Given the description of an element on the screen output the (x, y) to click on. 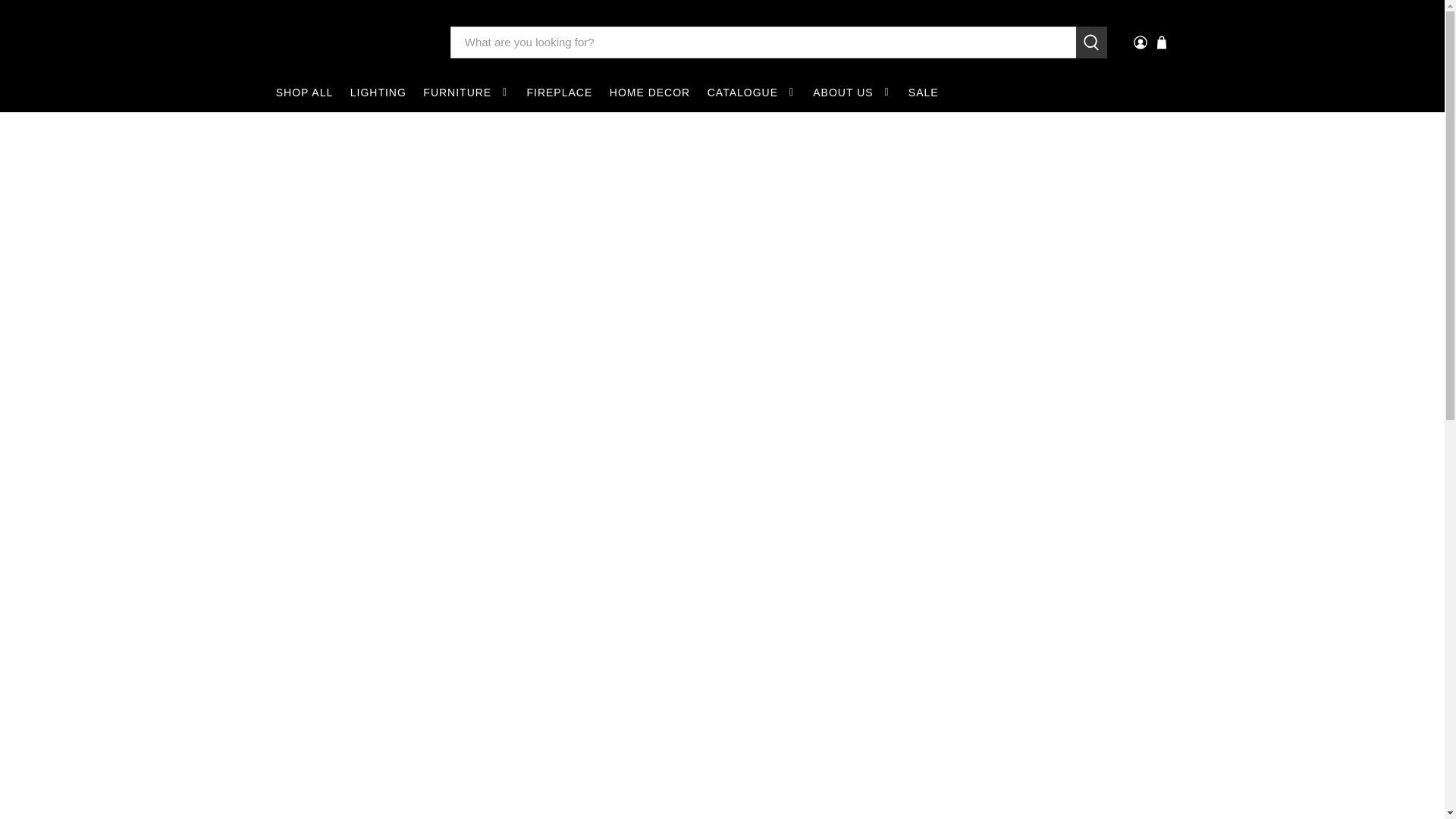
Elegant Interior (352, 41)
ABOUT US (852, 92)
SHOP ALL (303, 92)
LIGHTING (377, 92)
FIREPLACE (558, 92)
CATALOGUE (751, 92)
SALE (923, 92)
HOME DECOR (649, 92)
FURNITURE (466, 92)
